Given the description of an element on the screen output the (x, y) to click on. 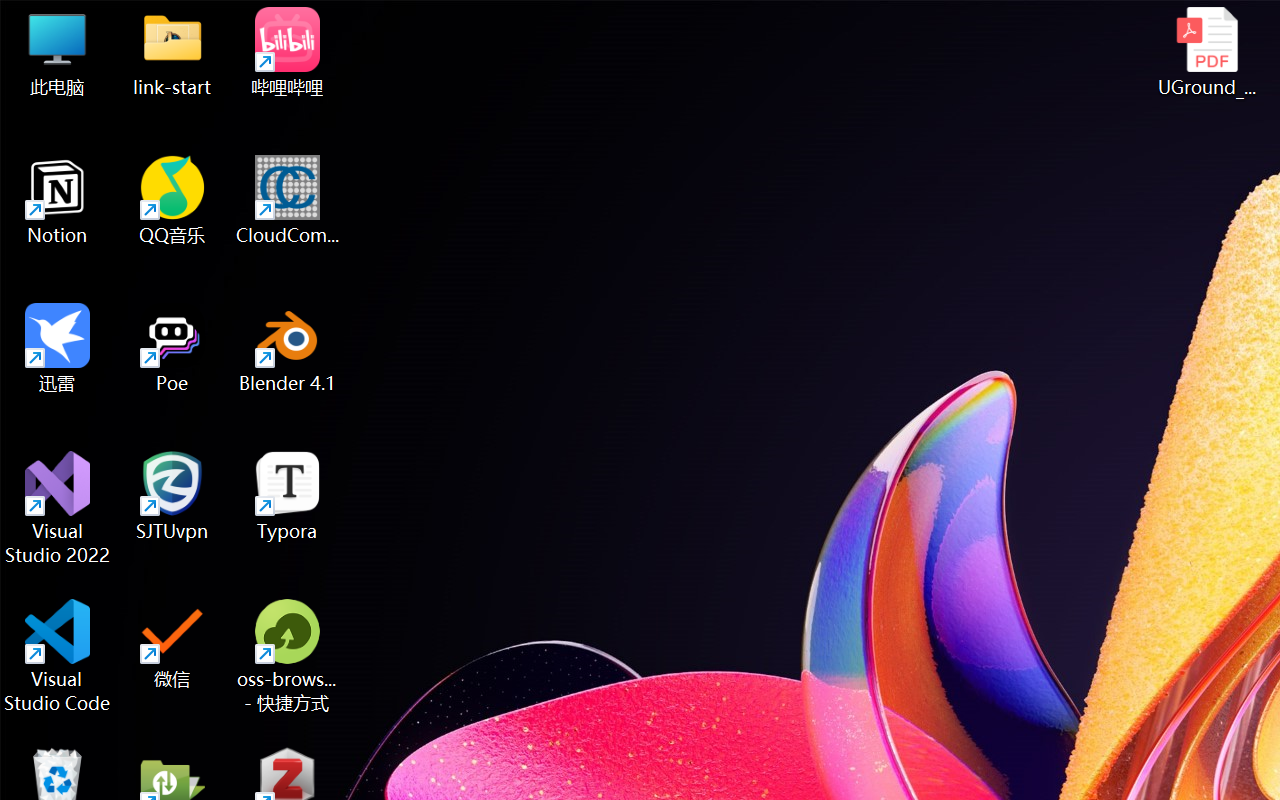
CloudCompare (287, 200)
Visual Studio Code (57, 656)
UGround_paper.pdf (1206, 52)
Typora (287, 496)
Blender 4.1 (287, 348)
Visual Studio 2022 (57, 508)
